Given the description of an element on the screen output the (x, y) to click on. 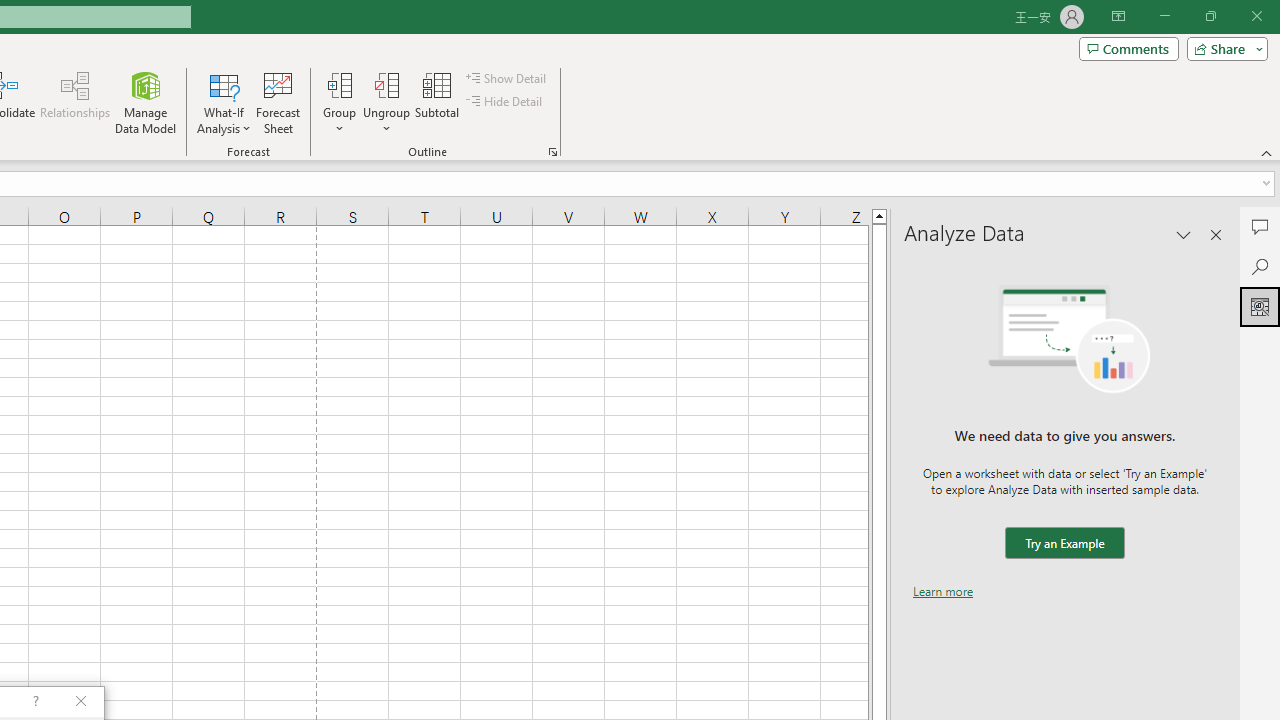
Learn more (943, 591)
We need data to give you answers. Try an Example (1064, 543)
Show Detail (507, 78)
What-If Analysis (223, 102)
Manage Data Model (145, 102)
